Given the description of an element on the screen output the (x, y) to click on. 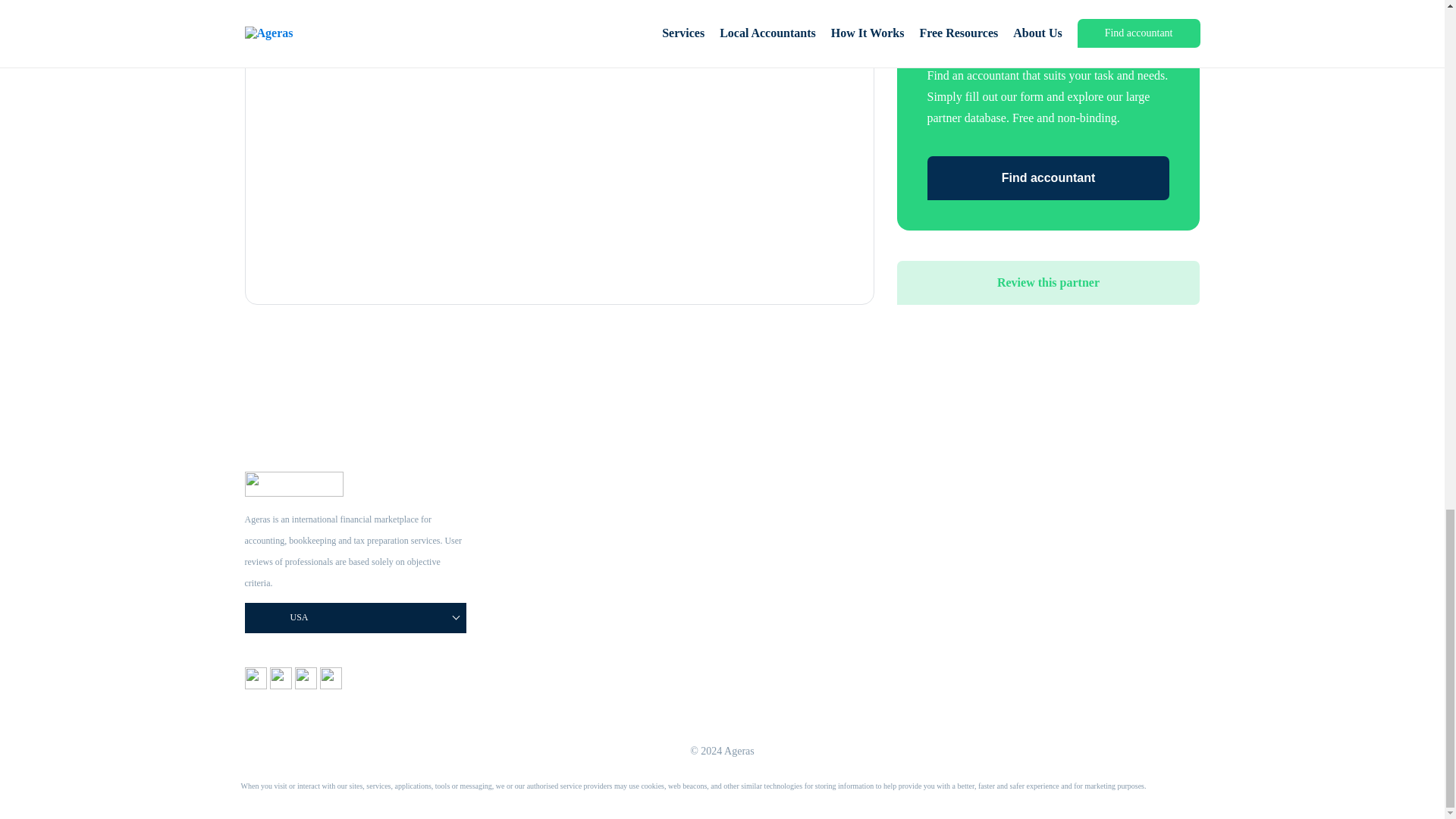
Ageras Twitter (306, 684)
Ageras Linkedin (331, 684)
Ageras Instagram (282, 684)
Ageras Facebook (256, 684)
